Given the description of an element on the screen output the (x, y) to click on. 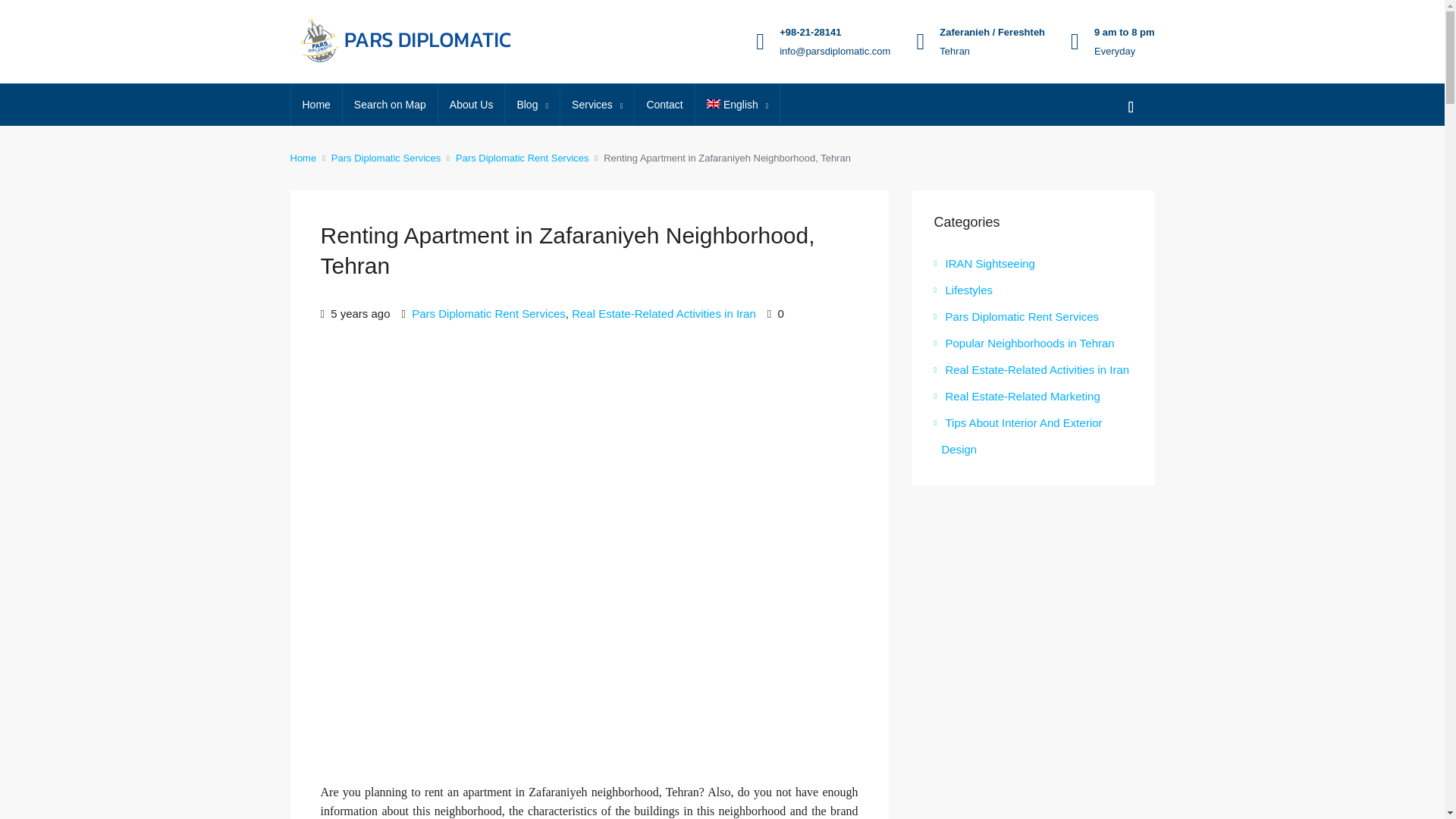
Search on Map (390, 104)
Contact (664, 104)
Home (316, 104)
Blog (532, 105)
English (737, 105)
About Us (471, 104)
English (737, 105)
Services (596, 105)
